Given the description of an element on the screen output the (x, y) to click on. 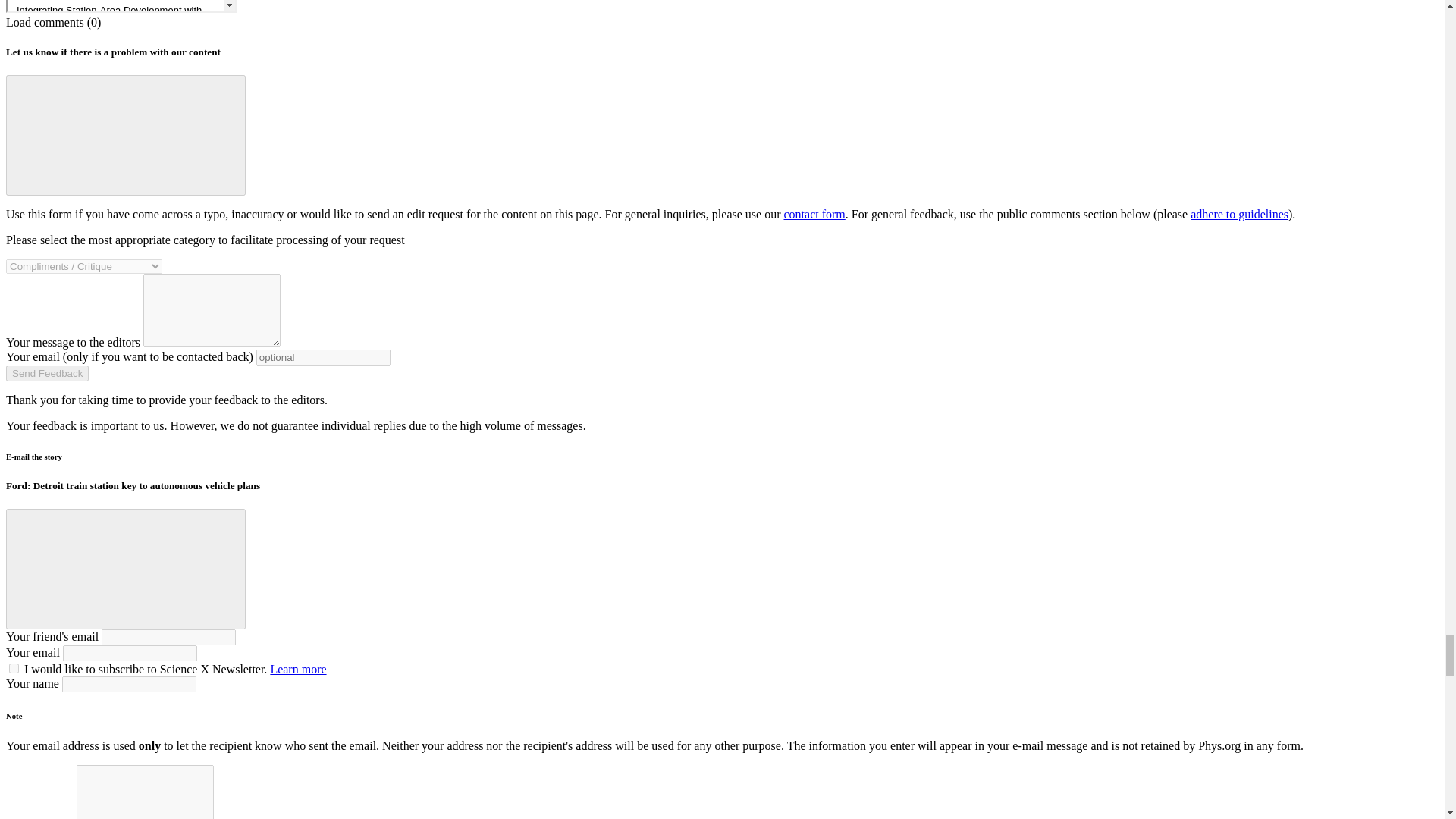
1 (13, 668)
